Given the description of an element on the screen output the (x, y) to click on. 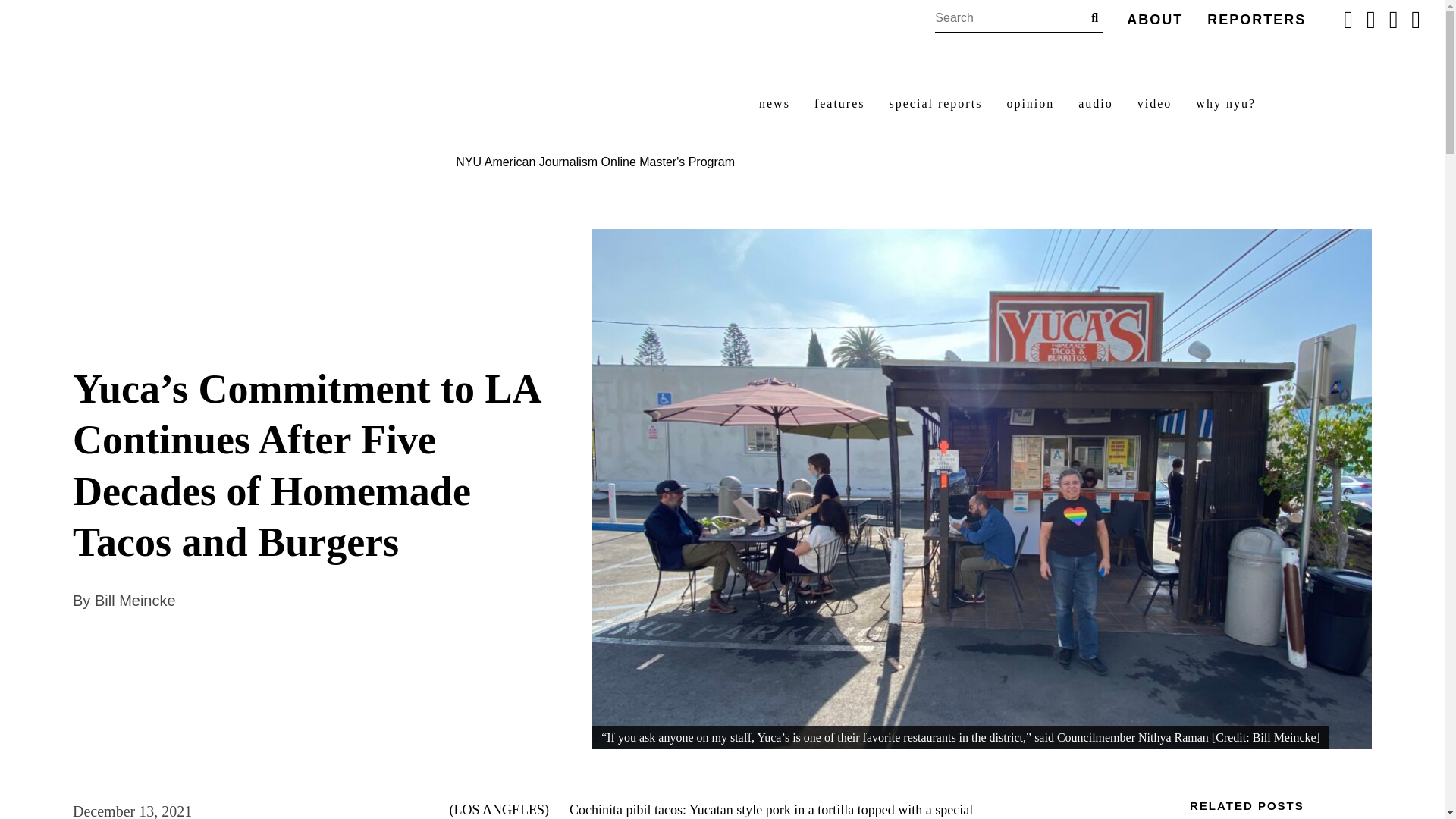
why nyu? (1225, 103)
NYU American Journalism Online Master's Program (595, 162)
Posts by Bill Meincke (135, 600)
REPORTERS (1256, 19)
The Click (462, 91)
ABOUT (1154, 19)
opinion (1030, 103)
news (774, 103)
features (838, 103)
audio (1095, 103)
